Given the description of an element on the screen output the (x, y) to click on. 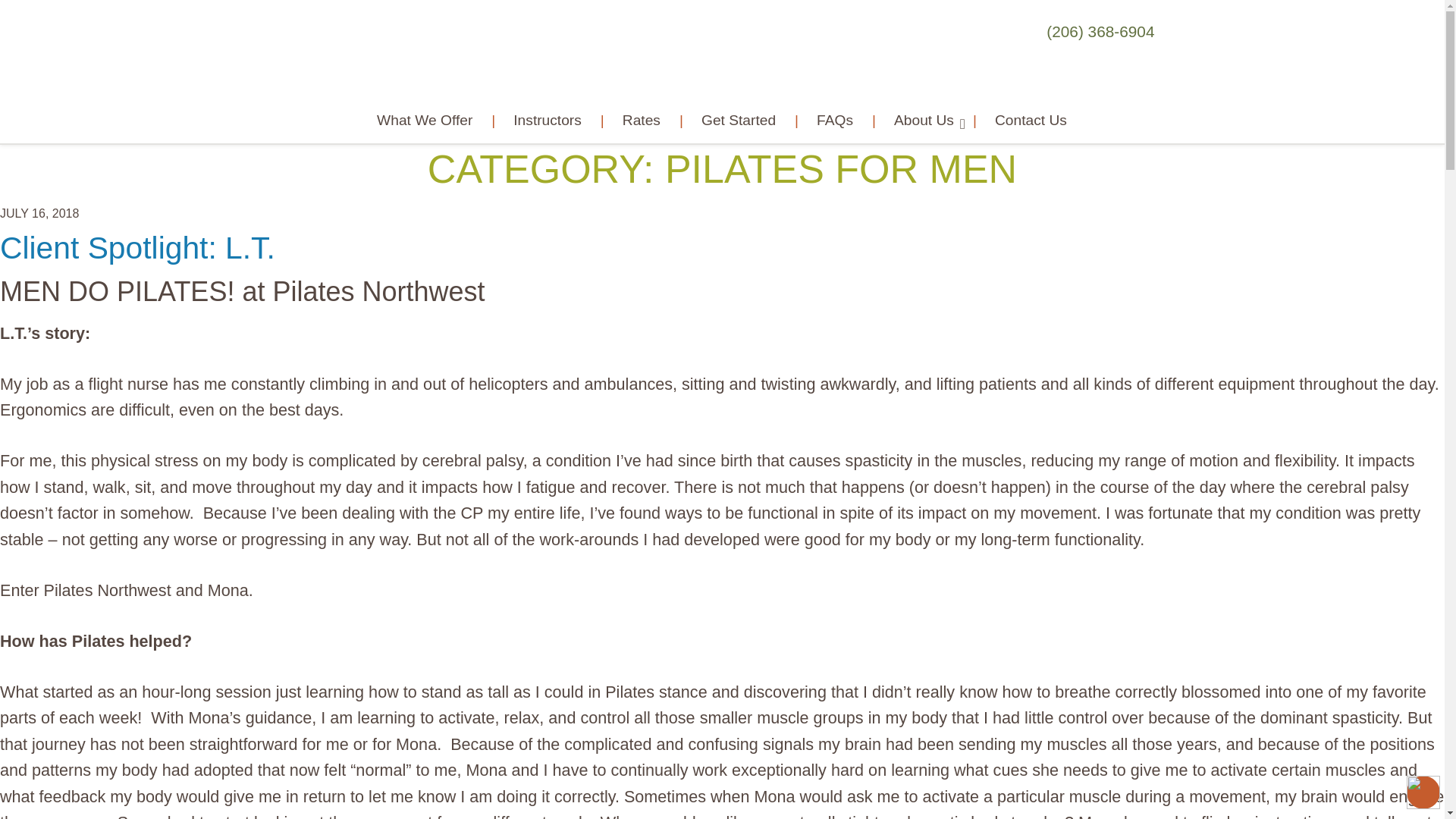
Pilates Northwest (722, 54)
What We Offer (425, 120)
Contact Us (1029, 120)
Client Spotlight: L.T. (137, 247)
Get Started (736, 120)
About Us (922, 120)
Accessibility Menu (1422, 792)
FAQs (833, 120)
Rates (639, 120)
Instructors (545, 120)
